Given the description of an element on the screen output the (x, y) to click on. 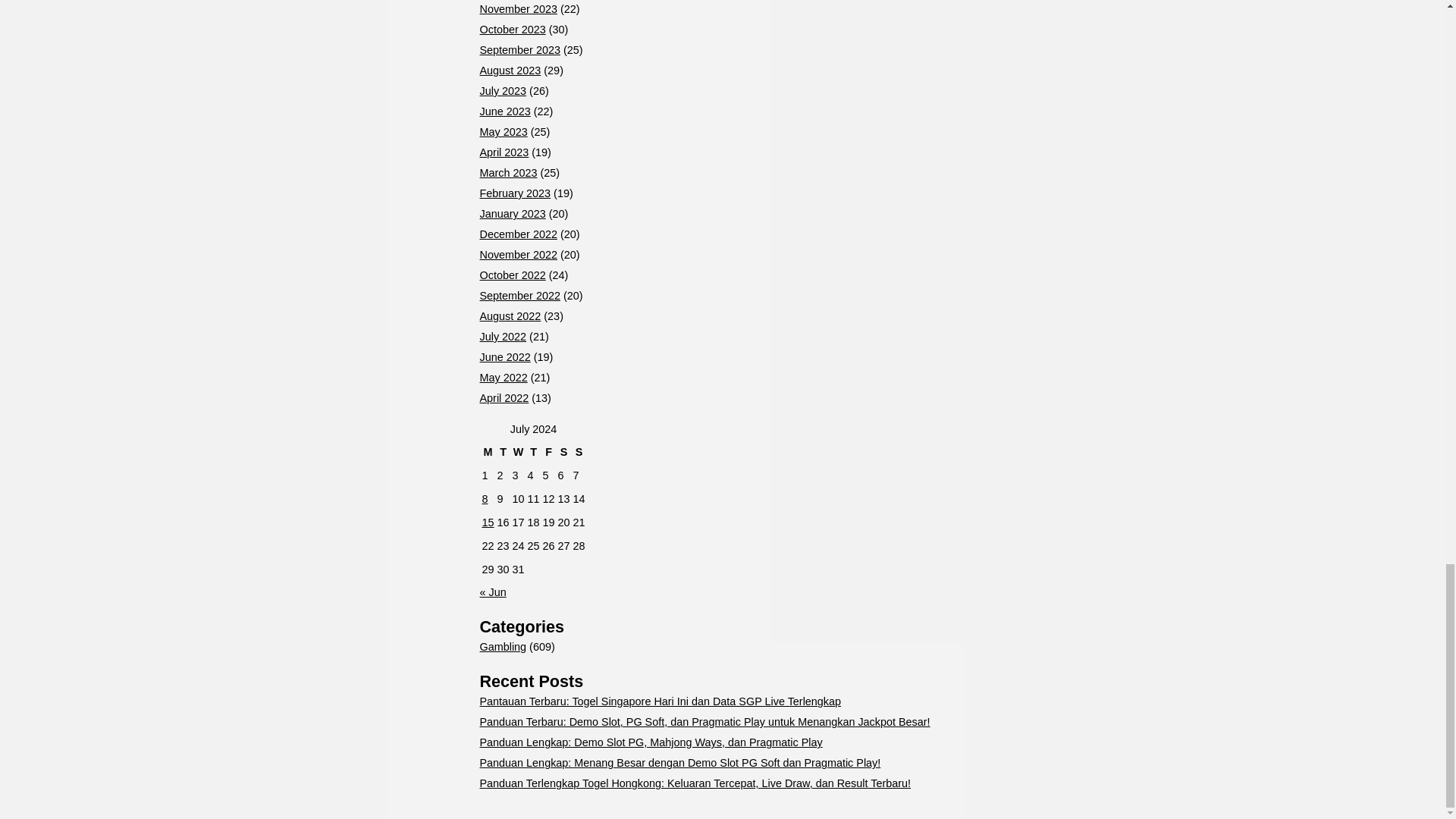
November 2022 (517, 254)
May 2022 (503, 377)
July 2022 (502, 336)
September 2023 (519, 50)
January 2023 (511, 214)
December 2022 (517, 234)
15 (488, 522)
May 2023 (503, 132)
October 2022 (511, 275)
March 2023 (508, 173)
April 2022 (503, 398)
August 2022 (509, 316)
June 2022 (504, 357)
August 2023 (509, 70)
Gambling (502, 646)
